Given the description of an element on the screen output the (x, y) to click on. 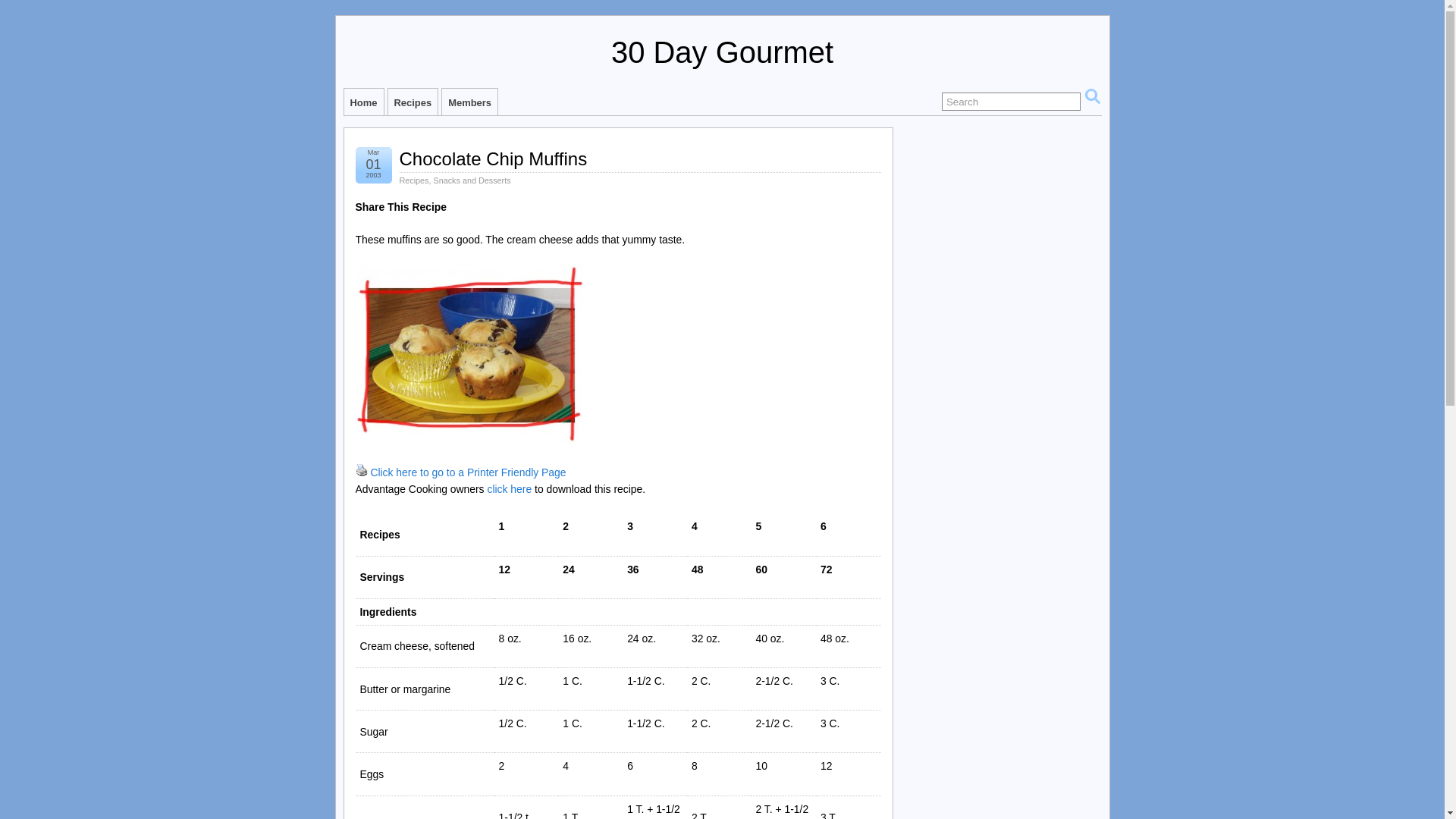
click here Element type: text (508, 489)
Click here to go to a Printer Friendly Page Element type: hover (360, 472)
Chocolate Chip Muffins Element type: text (492, 158)
Click here to go to a Printer Friendly Page Element type: text (467, 472)
Members Element type: text (469, 101)
30 Day Gourmet Element type: text (722, 52)
Snacks and Desserts Element type: text (472, 180)
Click here to go to a Printer Friendly Page Element type: hover (360, 470)
Home Element type: text (363, 101)
Recipes Element type: text (413, 101)
Recipes Element type: text (413, 180)
